Given the description of an element on the screen output the (x, y) to click on. 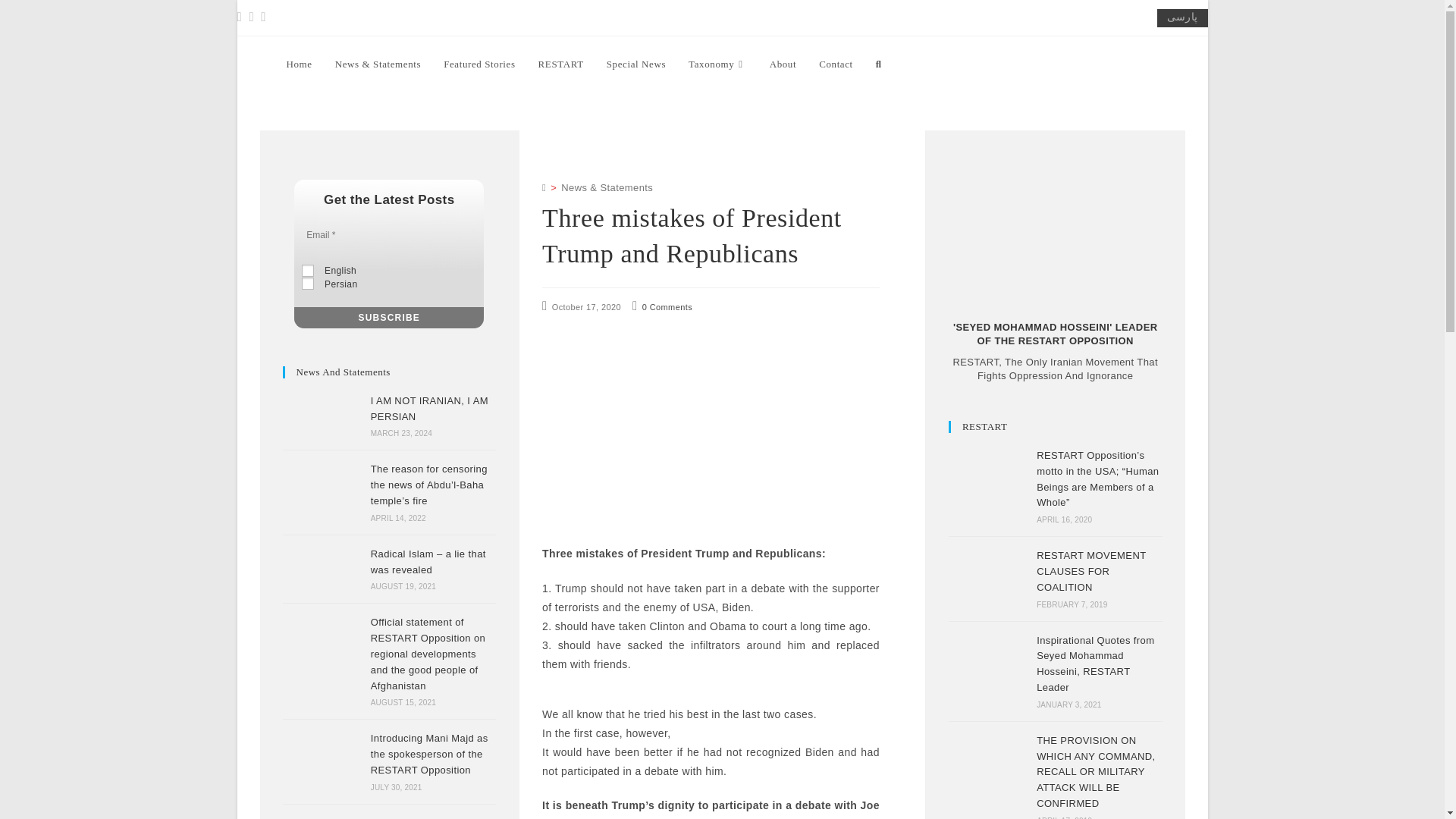
Email (389, 235)
Special News (636, 64)
Taxonomy (717, 64)
Subscribe (388, 317)
I AM NOT IRANIAN, I AM PERSIAN (321, 415)
About (783, 64)
3 (307, 270)
Contact (836, 64)
Trump has not made any mistakes! (321, 817)
RESTART (561, 64)
Featured Stories (478, 64)
4 (307, 283)
